Given the description of an element on the screen output the (x, y) to click on. 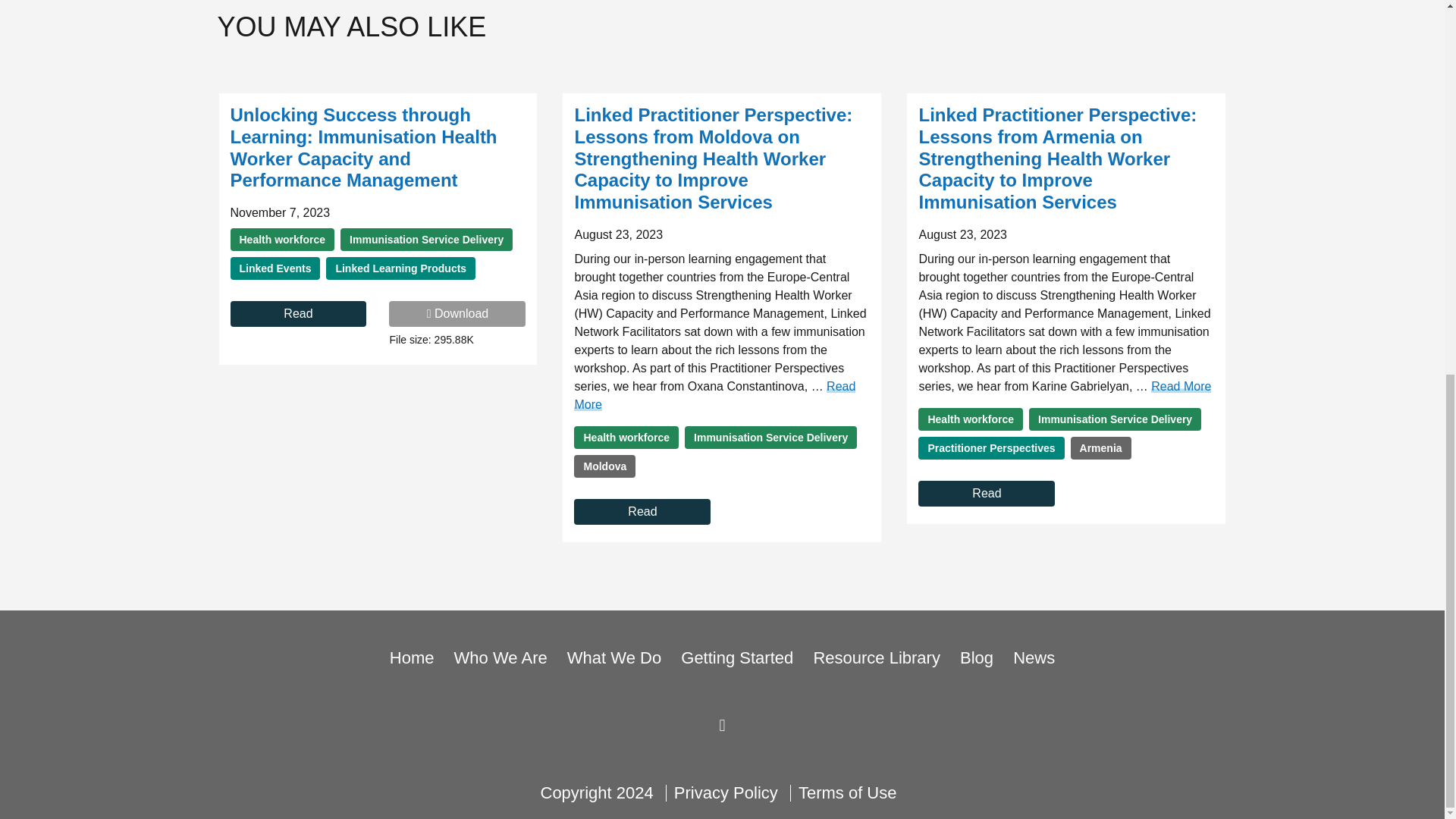
health-workforce (625, 436)
linked-learning-products (401, 268)
Linked Events (275, 268)
health-workforce (282, 239)
Immunisation Service Delivery (426, 239)
Linked Learning Products (401, 268)
Health workforce (282, 239)
immunisation-service-delivery (426, 239)
Read (298, 313)
